Given the description of an element on the screen output the (x, y) to click on. 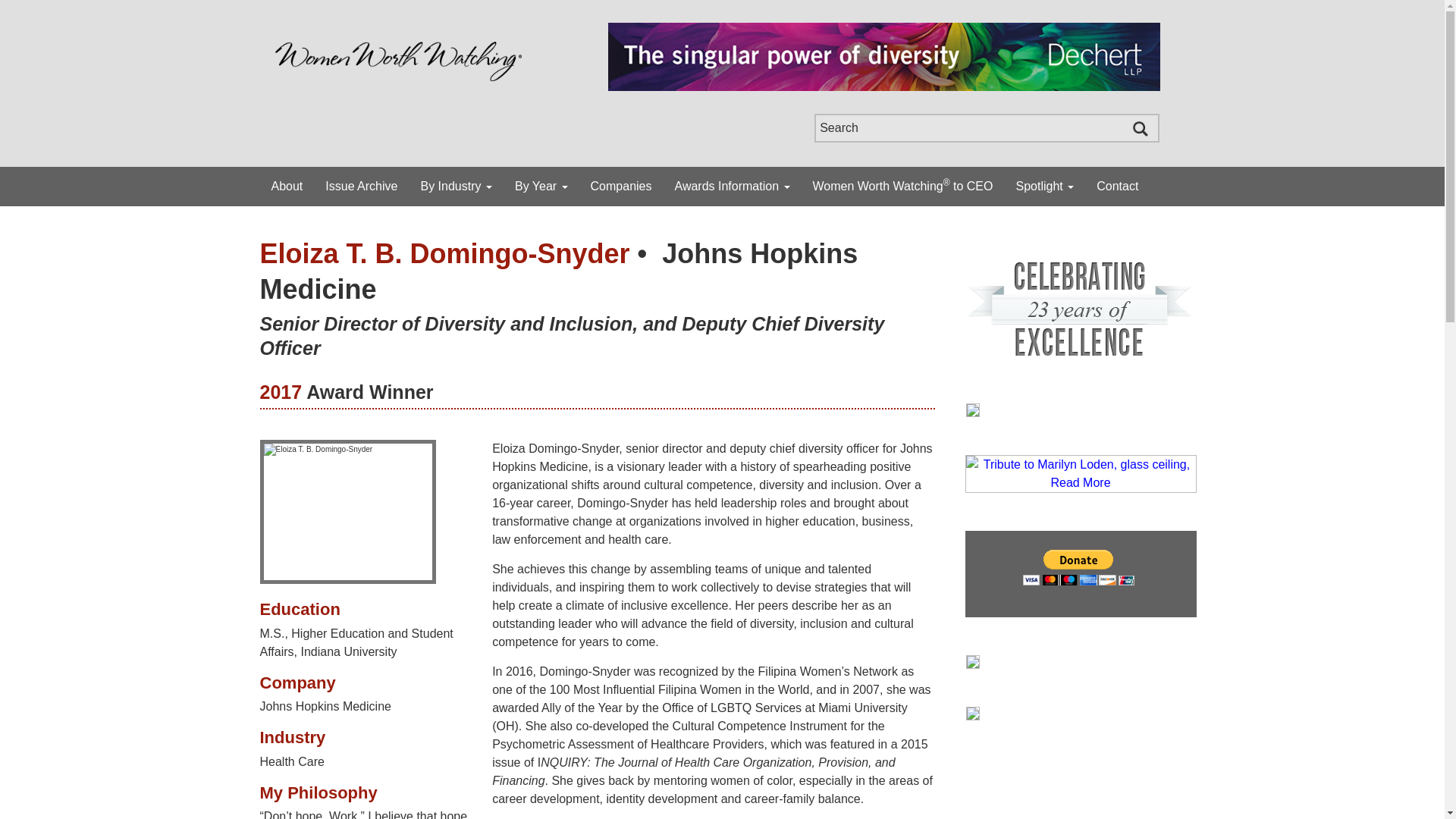
Search (985, 127)
About (286, 186)
By Industry (455, 186)
Issue Archive (361, 186)
By Year (541, 186)
By Industry (455, 186)
About (286, 186)
Issue Archive (361, 186)
Search (985, 127)
